Given the description of an element on the screen output the (x, y) to click on. 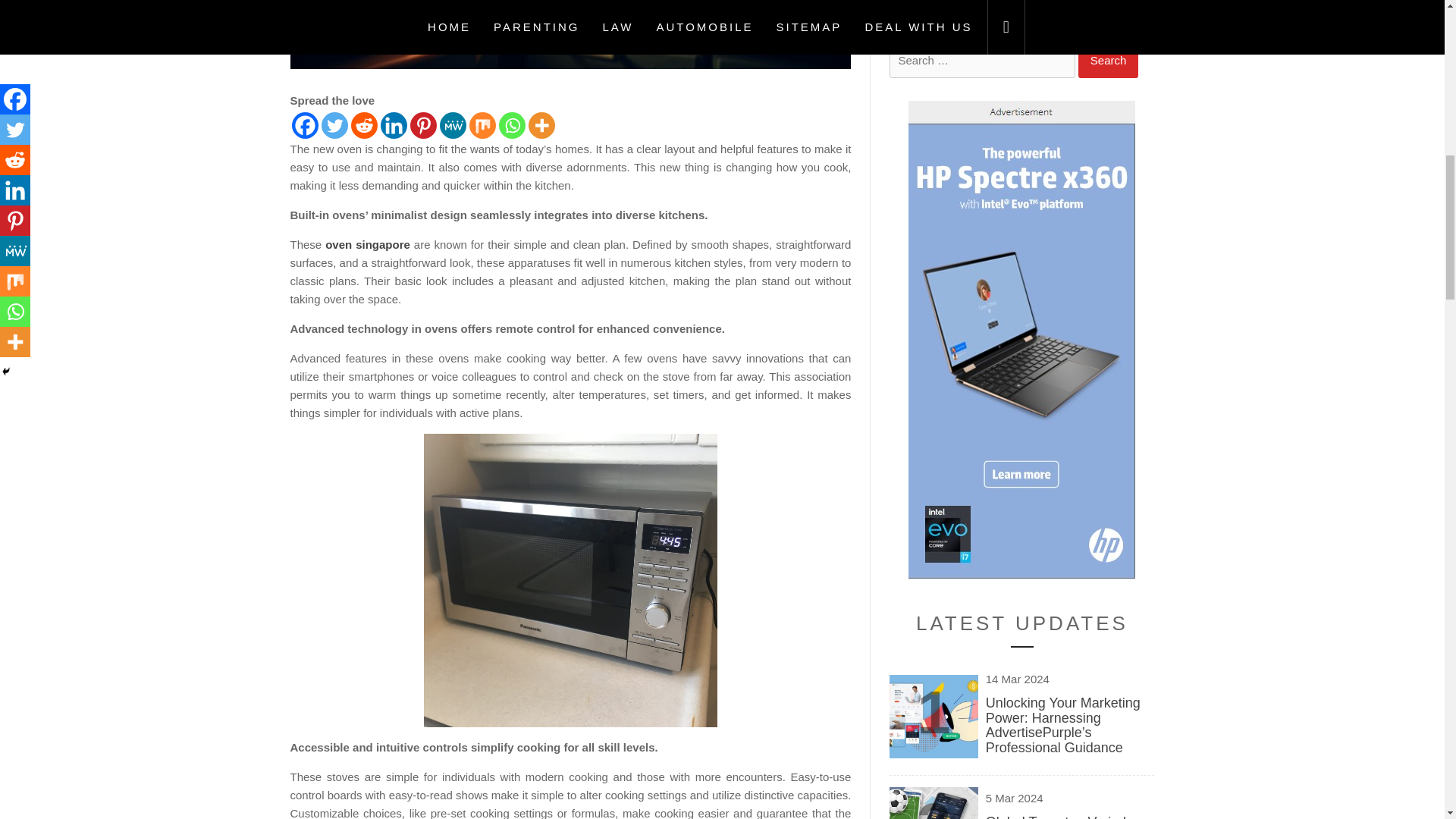
Twitter (334, 125)
oven singapore (367, 244)
MeWe (452, 125)
More (540, 125)
Linkedin (393, 125)
Mix (481, 125)
Search (1108, 60)
Facebook (304, 125)
Pinterest (422, 125)
Search (1108, 60)
Reddit (363, 125)
Whatsapp (512, 125)
